Given the description of an element on the screen output the (x, y) to click on. 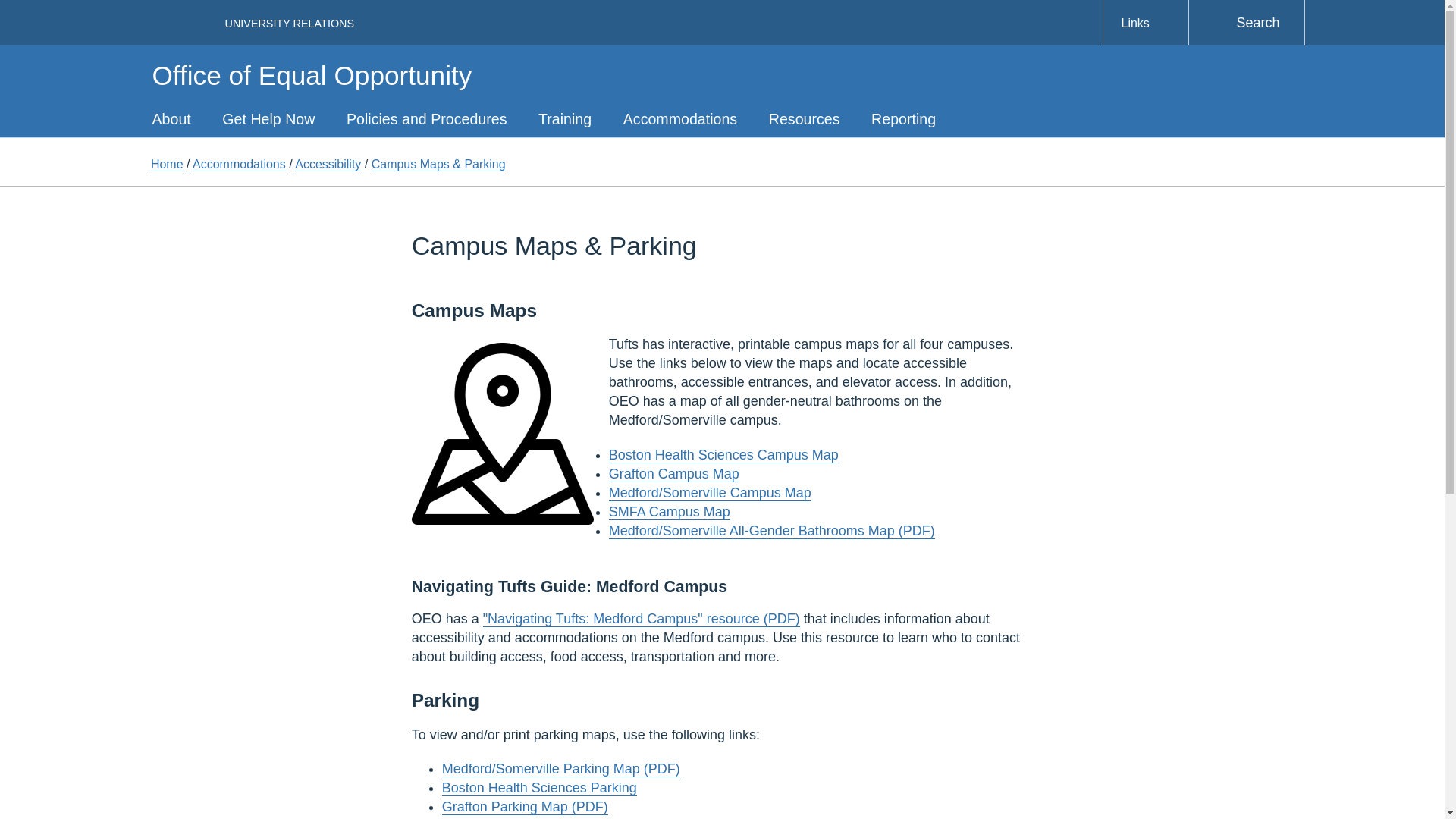
Office of Equal Opportunity (311, 75)
About (171, 118)
Policies and Procedures (426, 118)
Accommodations (679, 118)
UNIVERSITY RELATIONS (288, 23)
Training (564, 118)
Get Help Now (268, 118)
